Given the description of an element on the screen output the (x, y) to click on. 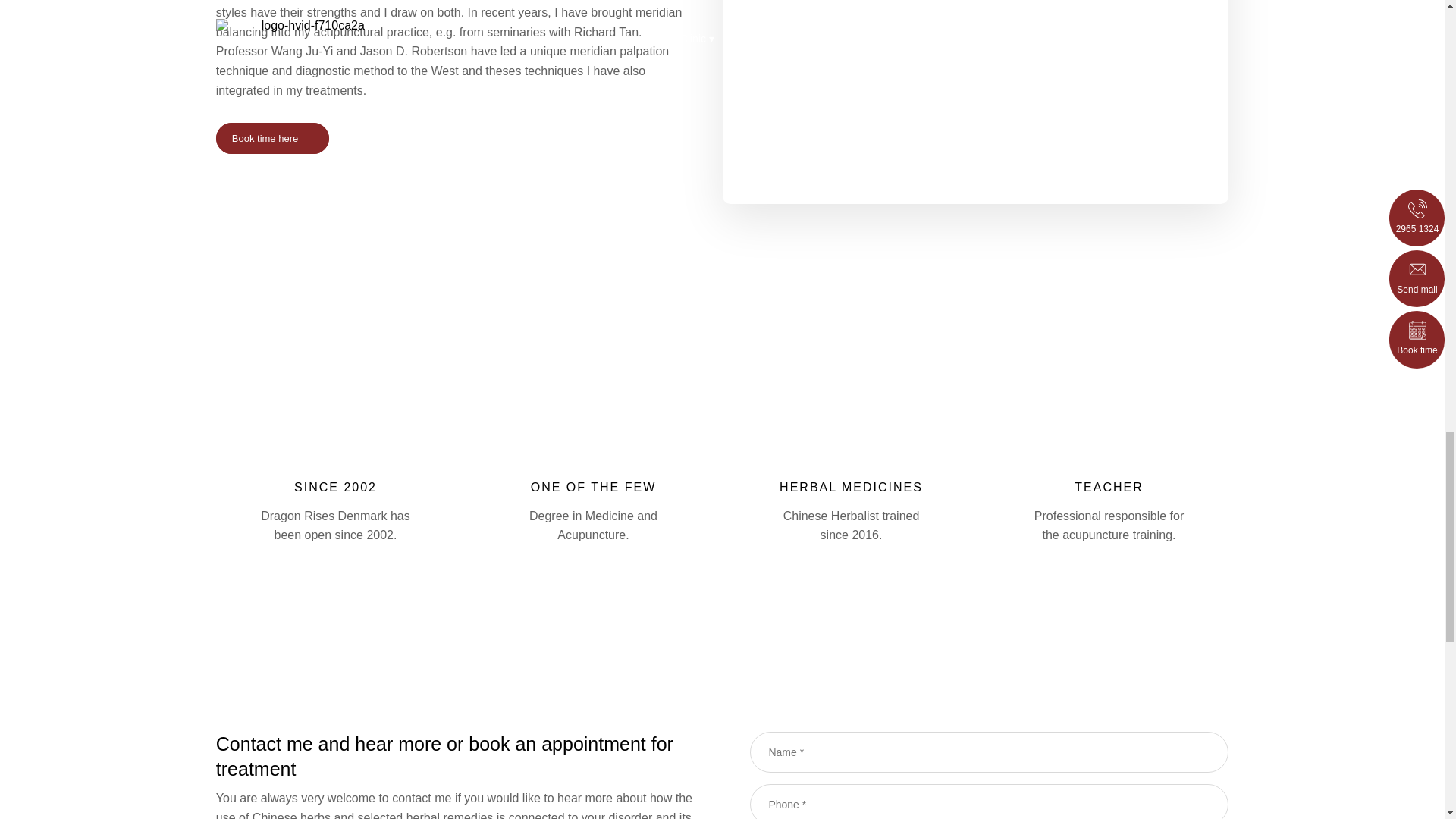
Book time here (272, 137)
Book time (272, 137)
